Given the description of an element on the screen output the (x, y) to click on. 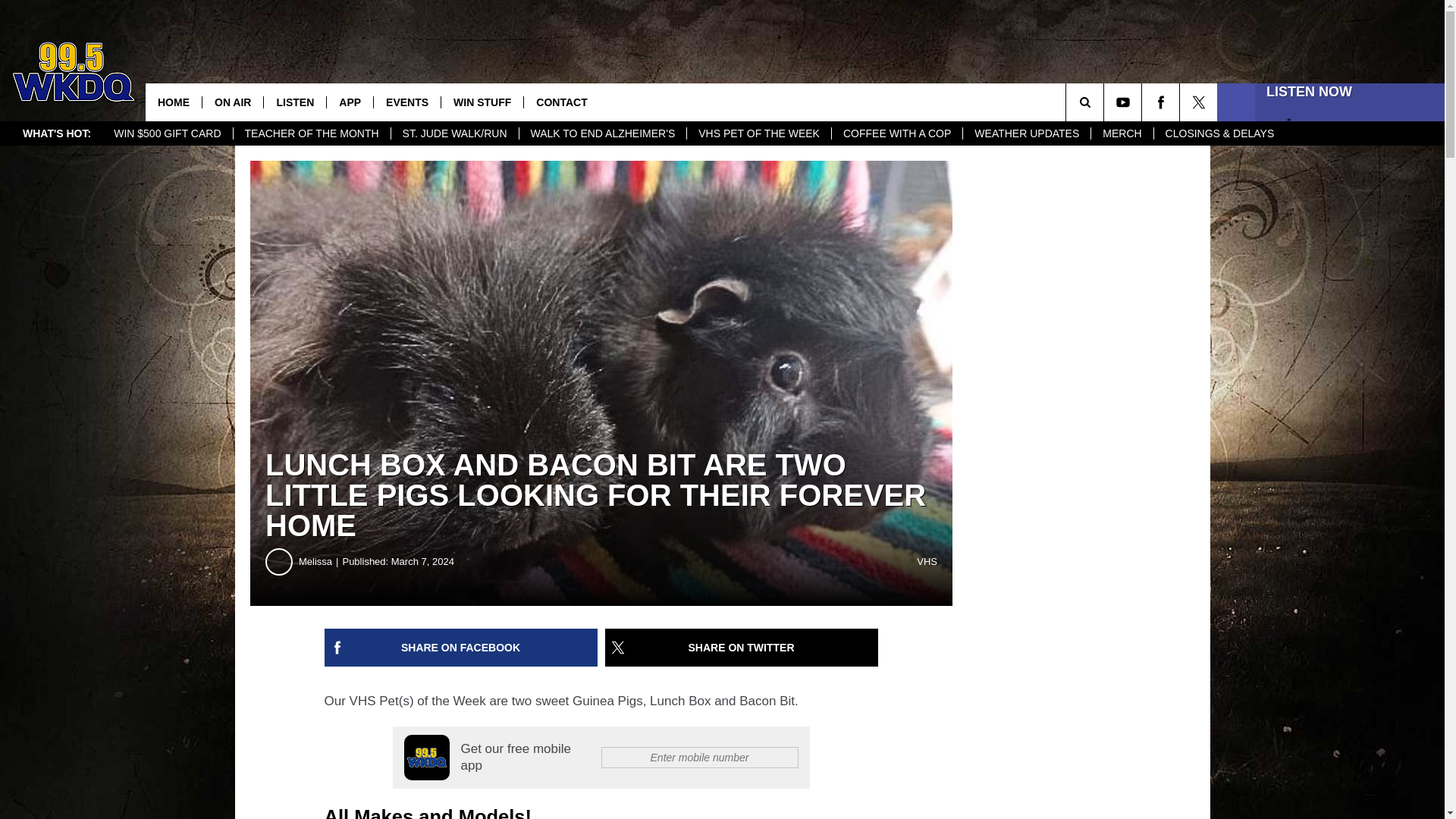
MERCH (1121, 133)
Share on Twitter (741, 647)
APP (349, 102)
WALK TO END ALZHEIMER'S (602, 133)
COFFEE WITH A COP (896, 133)
EVENTS (406, 102)
Share on Facebook (460, 647)
ON AIR (232, 102)
LISTEN (294, 102)
SEARCH (1106, 102)
